Given the description of an element on the screen output the (x, y) to click on. 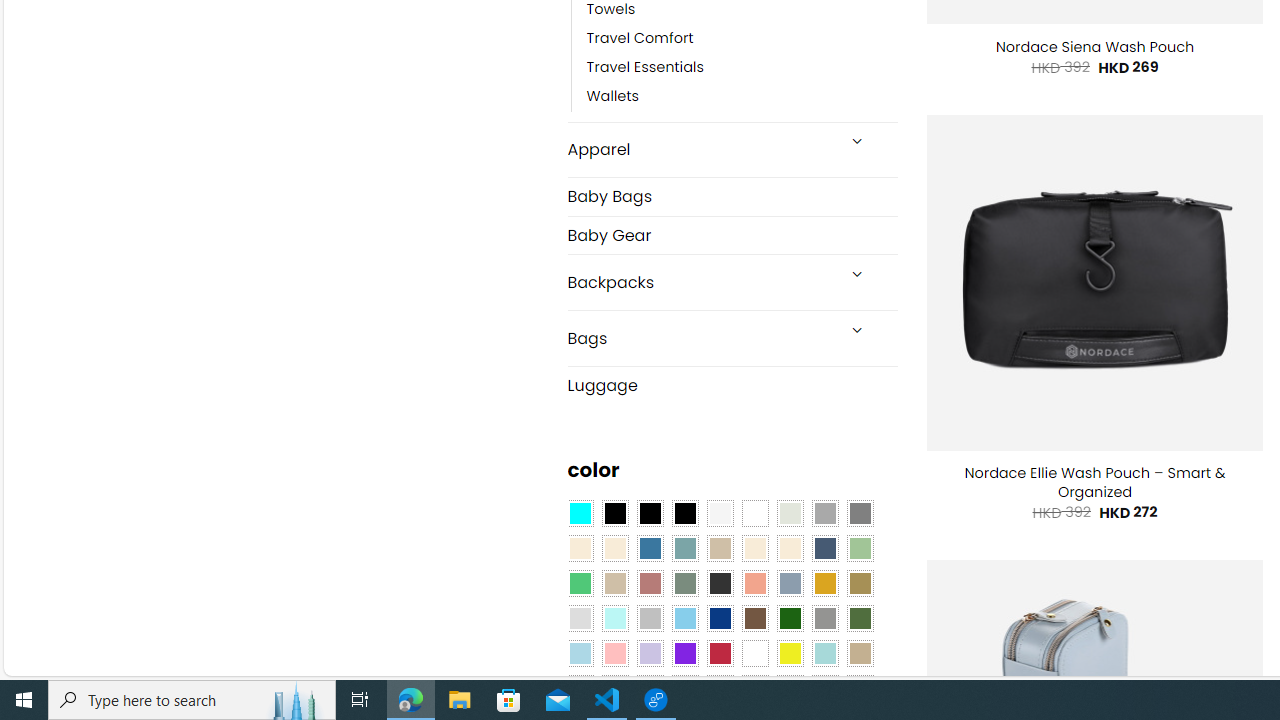
Travel Comfort (639, 38)
All Gray (859, 514)
Brown (755, 619)
Coral (755, 583)
Silver (650, 619)
Bags (700, 337)
Gold (824, 583)
Travel Comfort (742, 38)
Sage (684, 583)
Gray (824, 619)
Ash Gray (789, 514)
Dark Green (789, 619)
Brownie (719, 548)
